Given the description of an element on the screen output the (x, y) to click on. 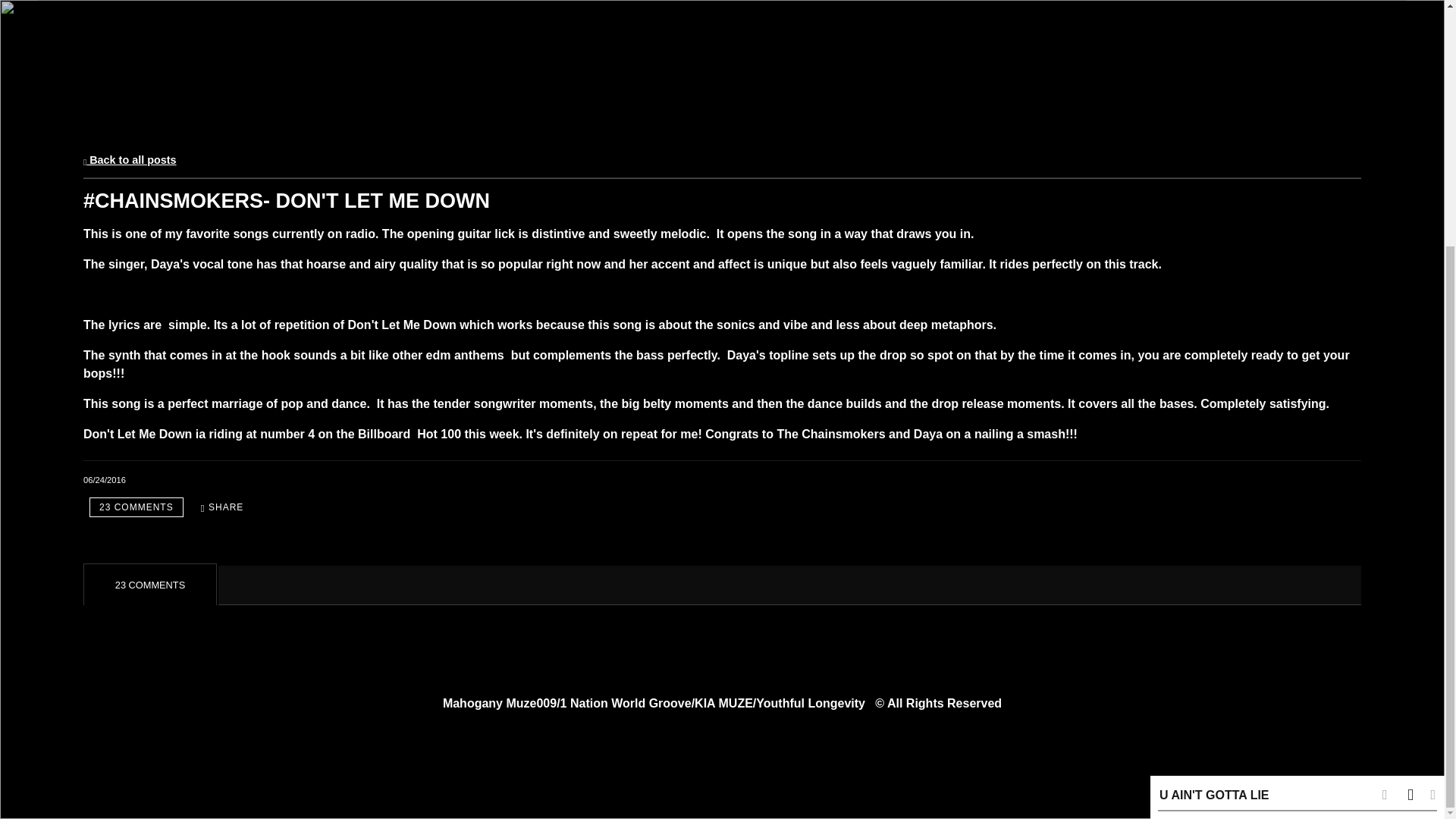
23 comments (135, 507)
Back to all posts (129, 159)
June 24, 2016 20:19 (103, 479)
23 COMMENTS (135, 507)
SHARE (222, 506)
